Given the description of an element on the screen output the (x, y) to click on. 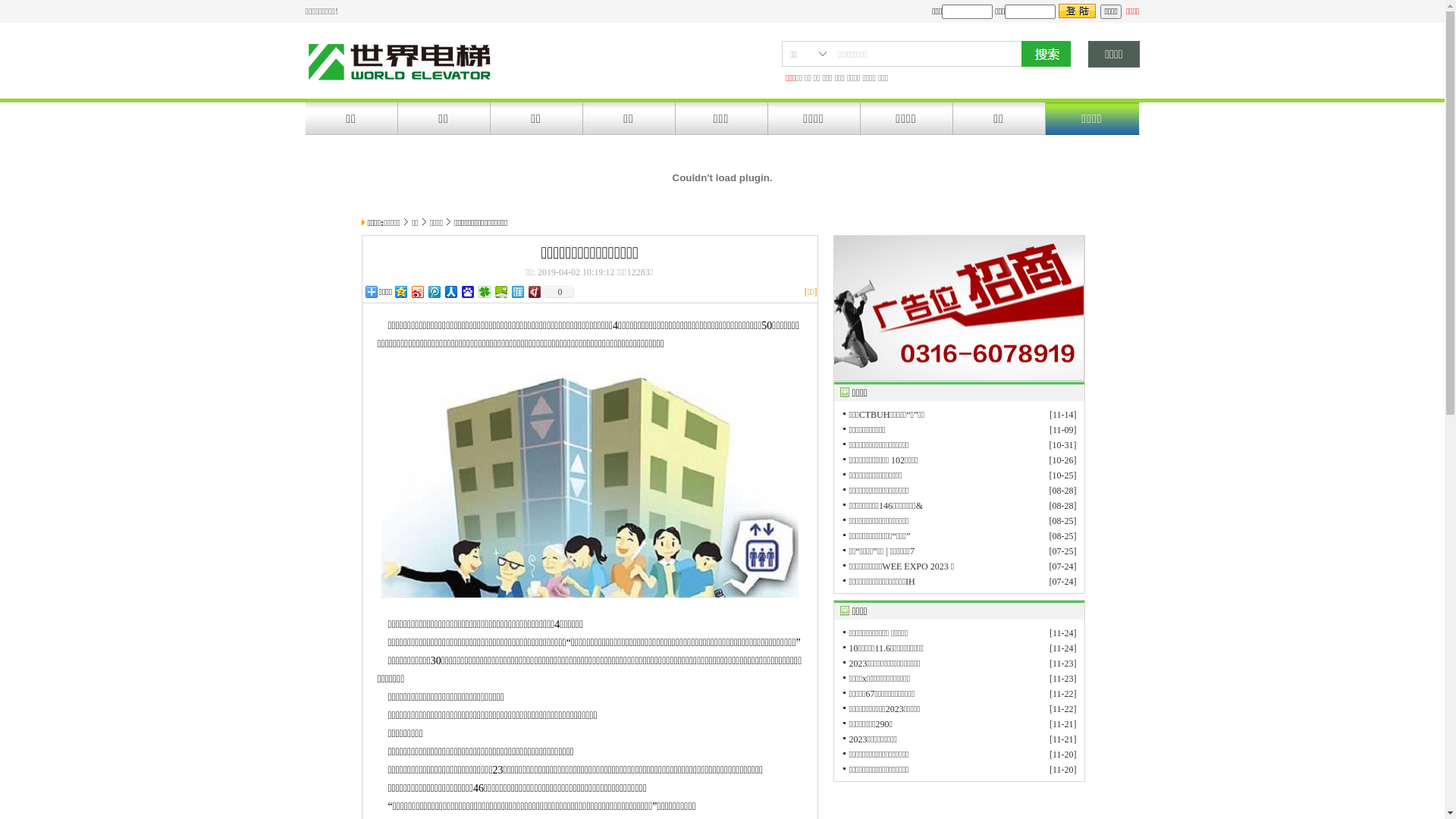
0 Element type: text (558, 291)
